Given the description of an element on the screen output the (x, y) to click on. 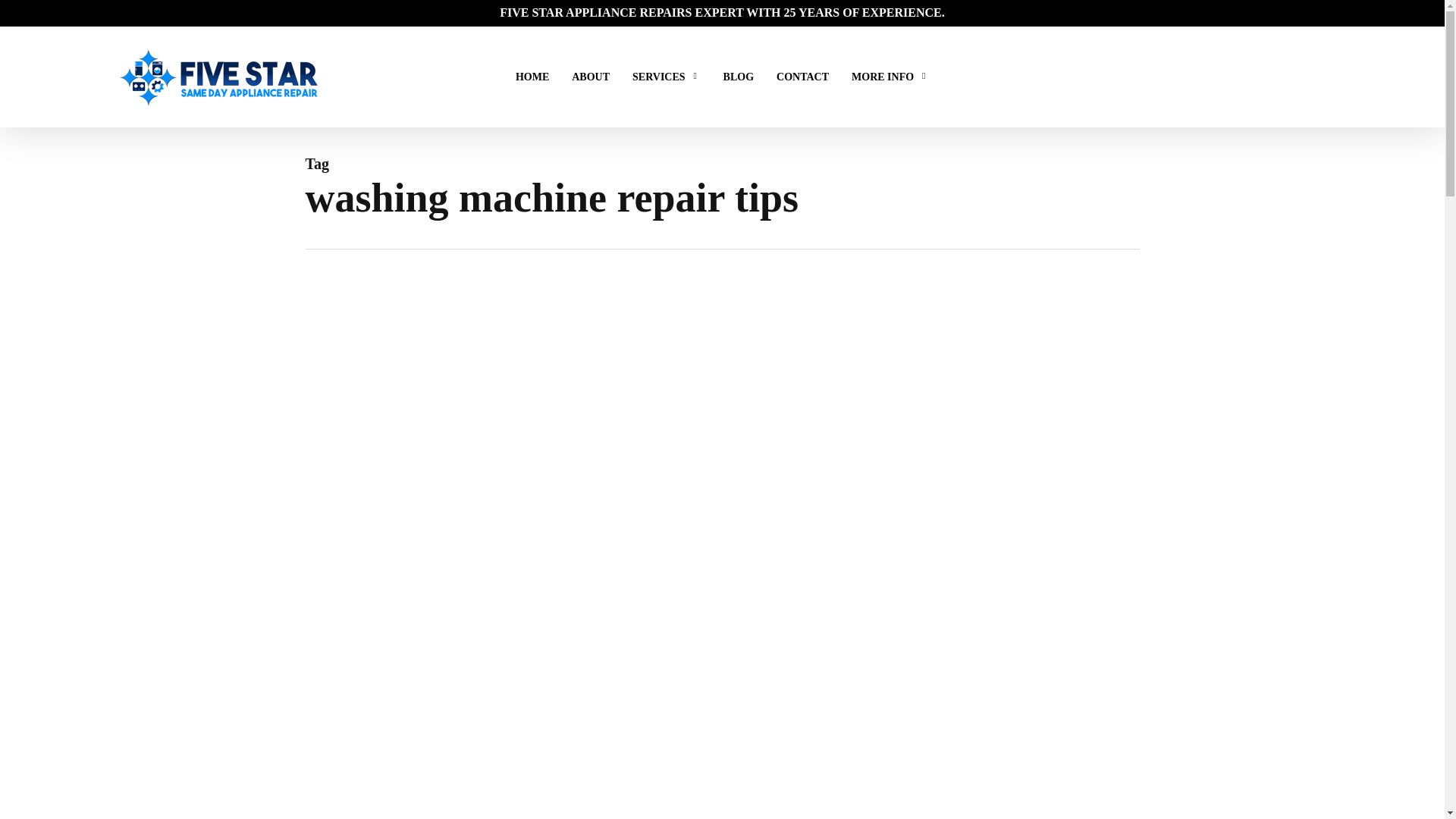
ABOUT (590, 77)
SERVICES (666, 77)
CONTACT (802, 77)
BLOG (738, 77)
HOME (531, 77)
MORE INFO (890, 77)
